Given the description of an element on the screen output the (x, y) to click on. 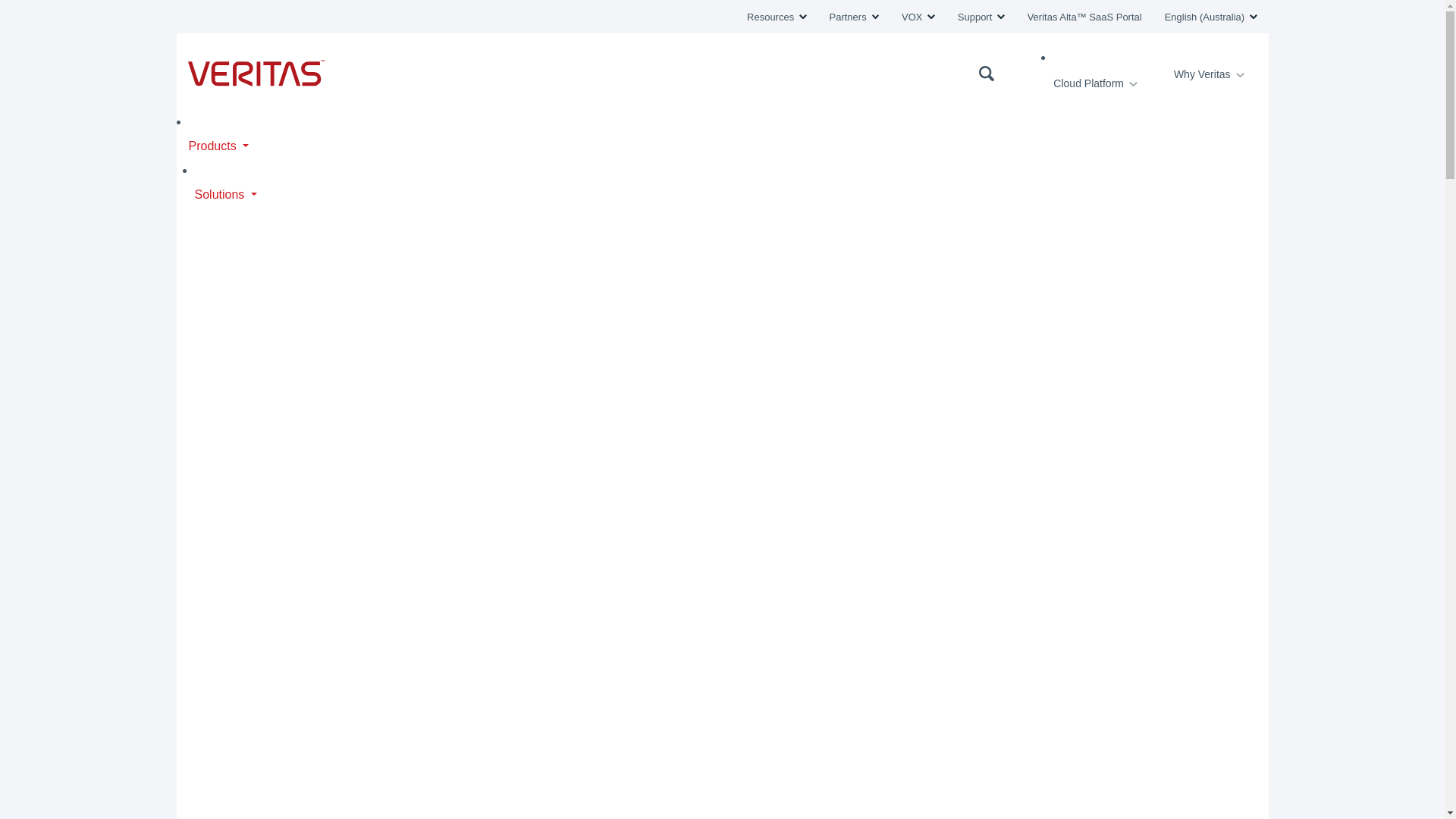
VOX (917, 16)
Resources (776, 16)
Partners (854, 16)
Support (981, 16)
